Given the description of an element on the screen output the (x, y) to click on. 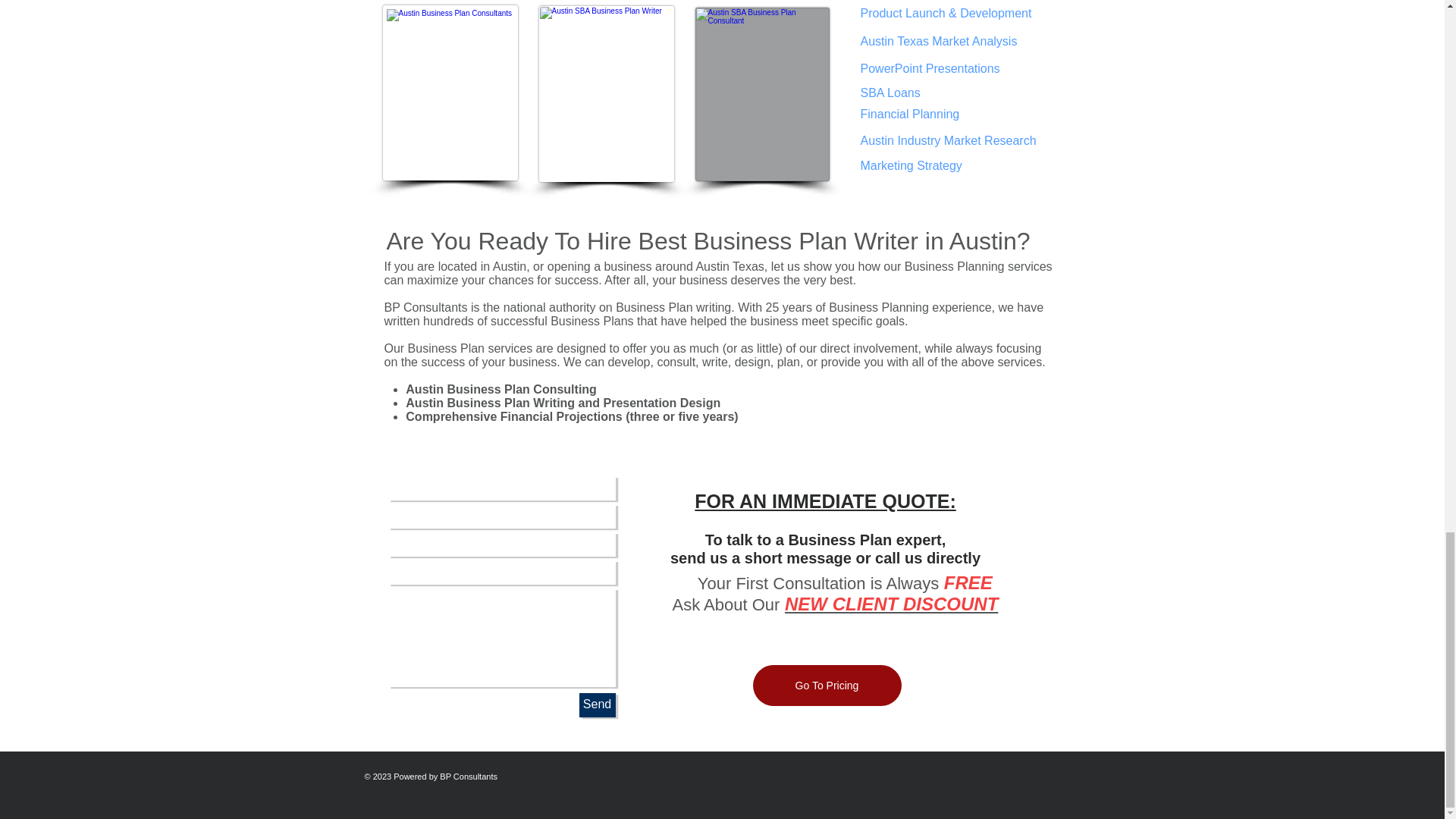
Send (597, 704)
PowerPoint Presentations (936, 68)
Go To Pricing (826, 685)
SBA Loans (904, 93)
Austin Texas Market Analysis (938, 41)
Financial Planning (913, 114)
